Given the description of an element on the screen output the (x, y) to click on. 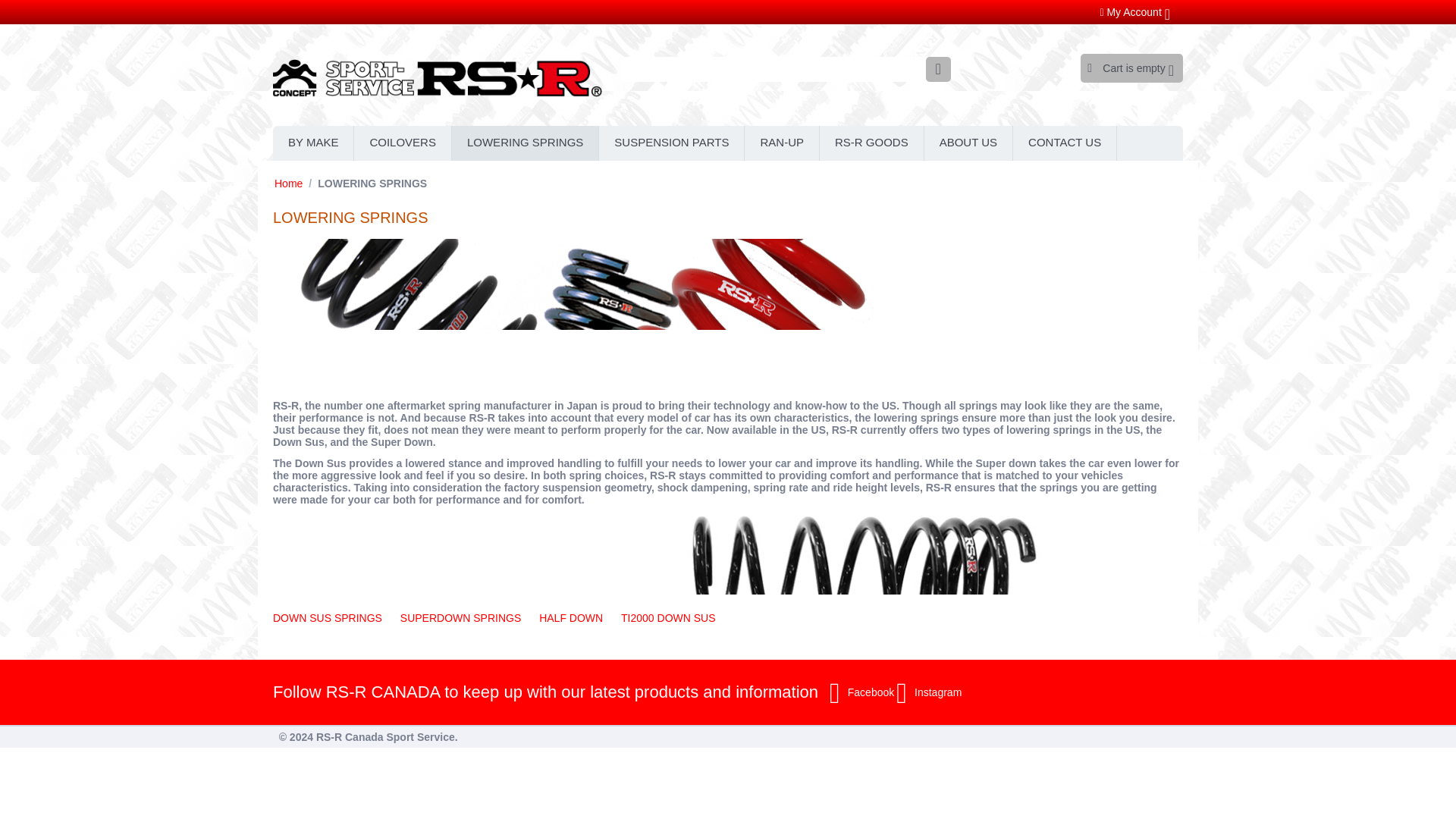
Cart is empty (1130, 68)
BY MAKE (313, 143)
Search (938, 68)
 My Account (1134, 11)
Search (785, 68)
